Given the description of an element on the screen output the (x, y) to click on. 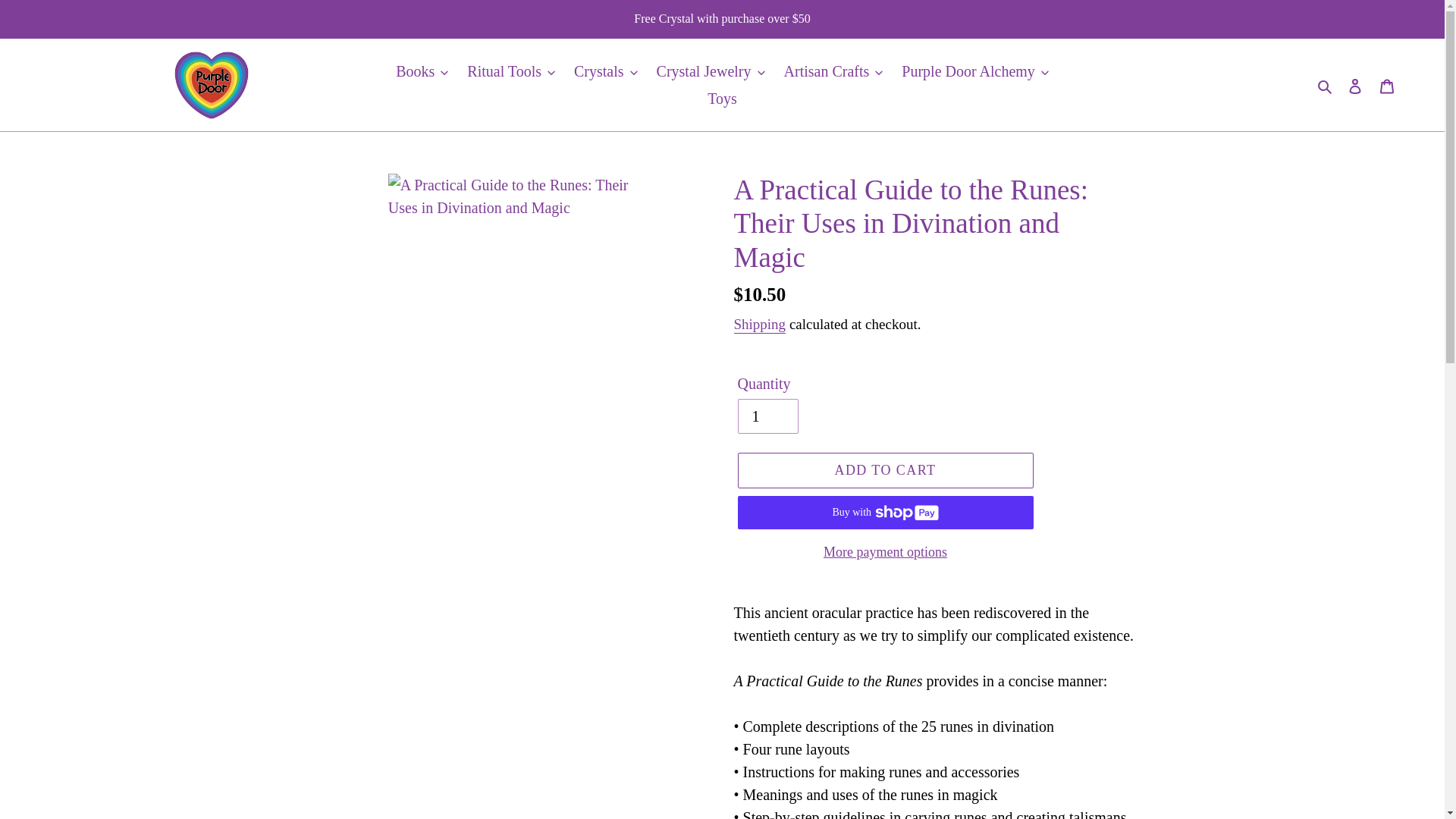
Artisan Crafts (833, 71)
Purple Door Alchemy (975, 71)
1 (766, 416)
Books (421, 71)
Ritual Tools (511, 71)
Crystal Jewelry (711, 71)
Crystals (605, 71)
